Given the description of an element on the screen output the (x, y) to click on. 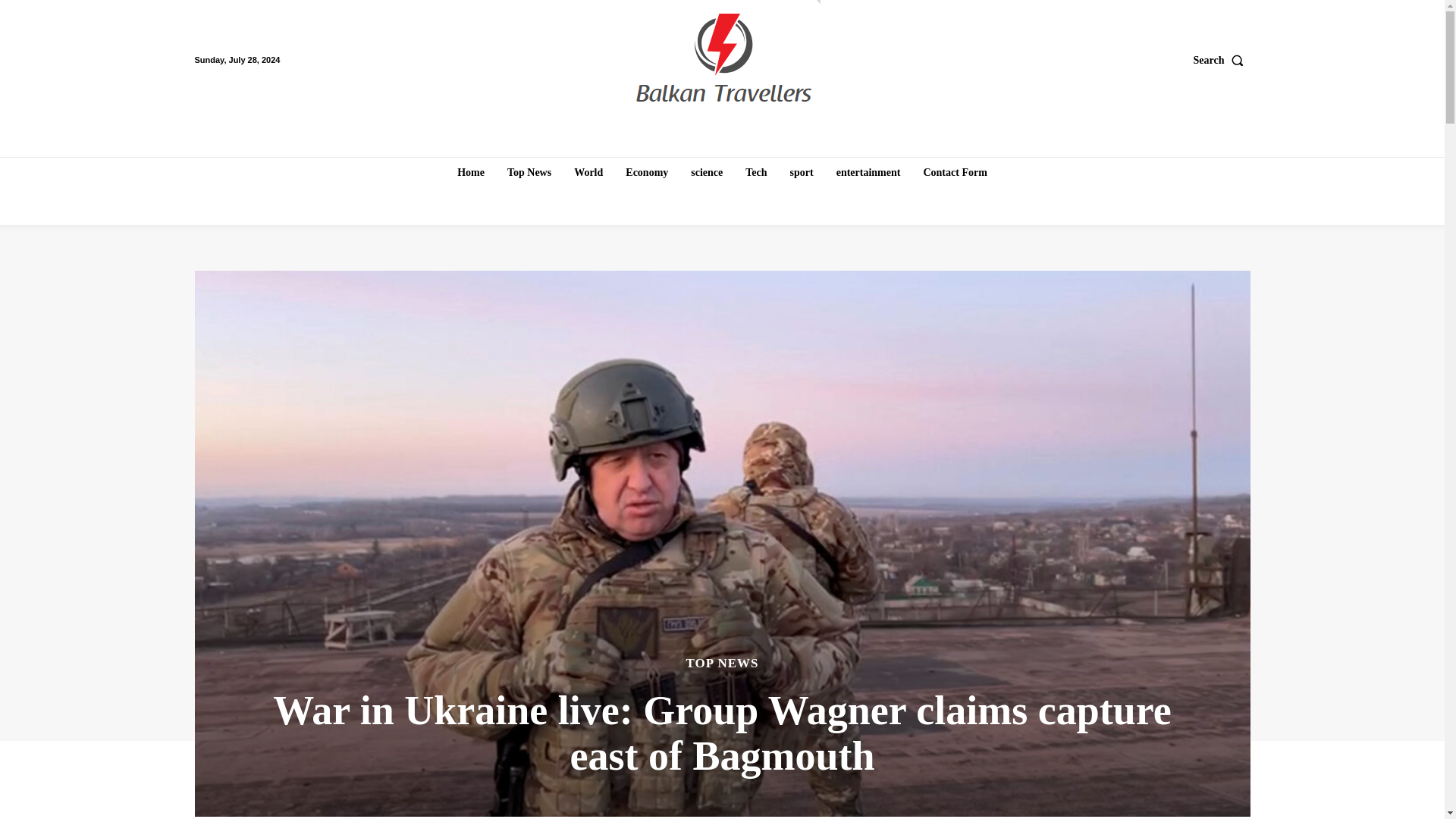
Tech (756, 173)
Top News (529, 173)
Contact Form (954, 173)
science (706, 173)
Search (1221, 60)
entertainment (868, 173)
sport (802, 173)
Home (470, 173)
World (588, 173)
Economy (646, 173)
